Given the description of an element on the screen output the (x, y) to click on. 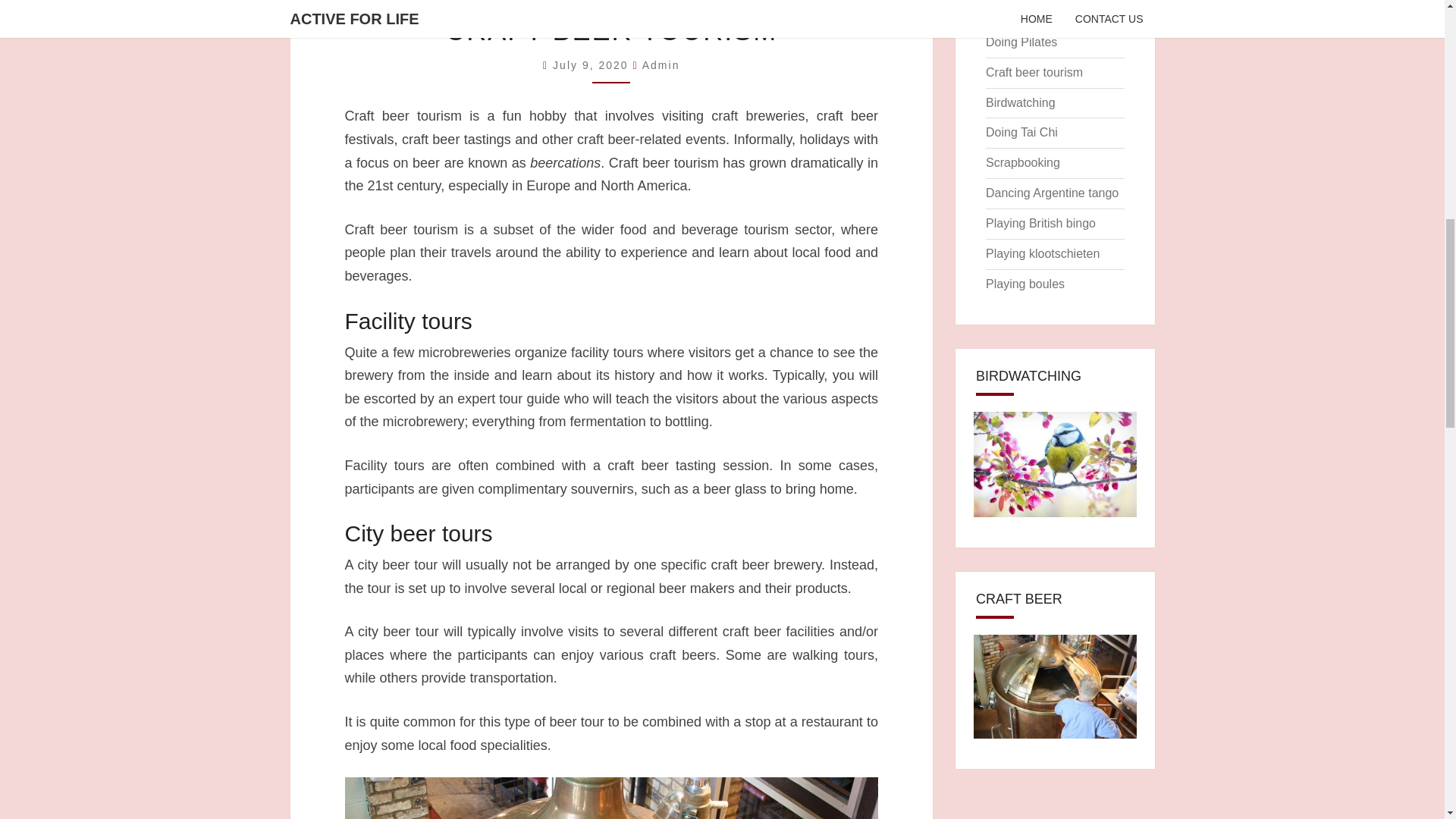
Playing British bingo (1040, 223)
Playing klootschieten (1042, 253)
8:43 am (592, 64)
Doing Tai Chi (1021, 132)
Admin (660, 64)
Doing Pilates (1021, 42)
Craft beer tourism (1034, 72)
Birdwatching (1020, 101)
Dancing Argentine tango (1051, 192)
Playing boules (1024, 283)
Cha-cha-cha dancing (1042, 11)
Scrapbooking (1022, 162)
July 9, 2020 (592, 64)
View all posts by admin (660, 64)
